Given the description of an element on the screen output the (x, y) to click on. 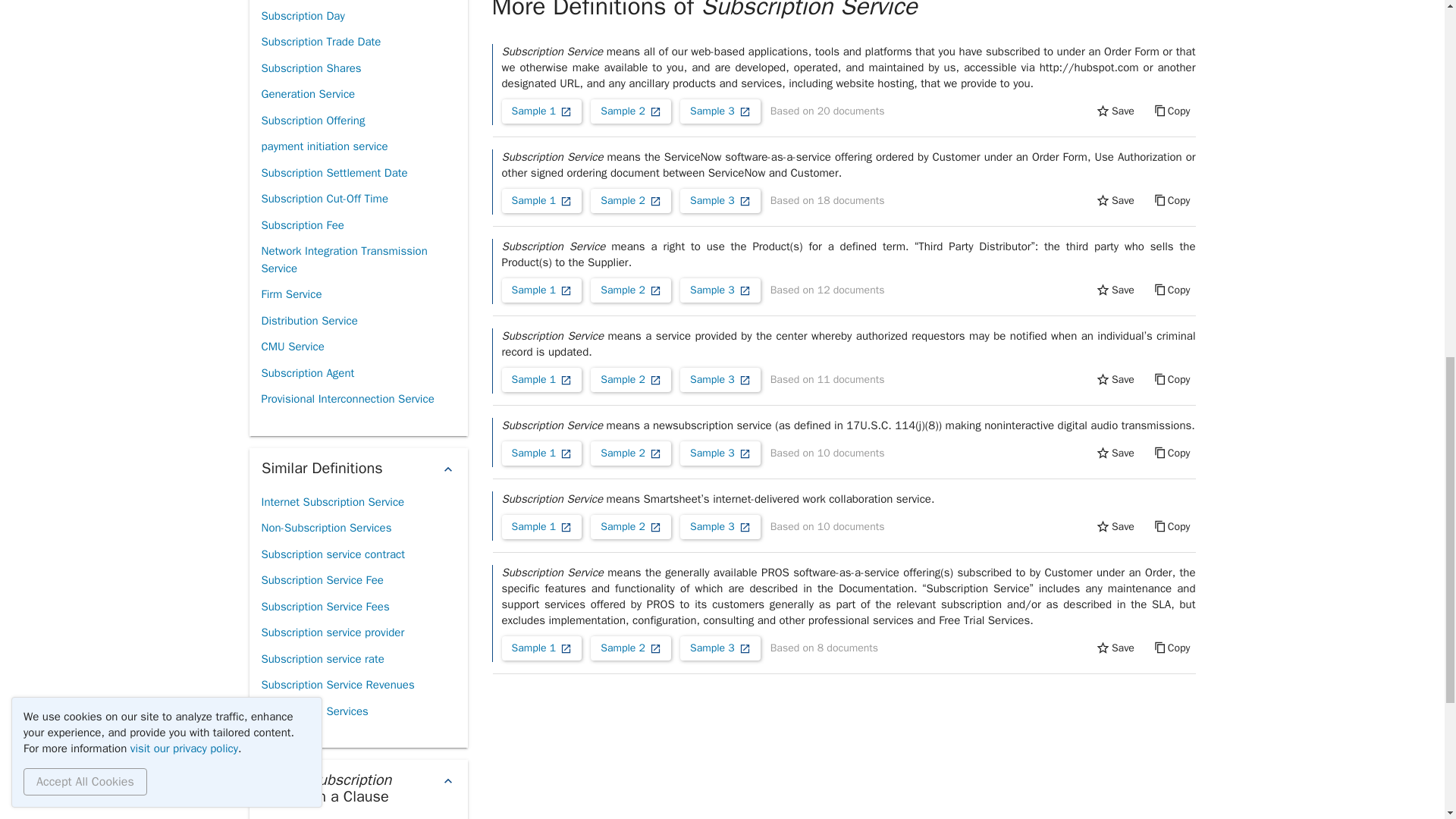
Subscription Settlement Date (333, 172)
Subscription Offering (312, 120)
Subscription Day (301, 16)
Subscription Shares (310, 68)
payment initiation service (323, 146)
Subscription Trade Date (320, 41)
Subscription Rights (308, 1)
Generation Service (307, 94)
